Given the description of an element on the screen output the (x, y) to click on. 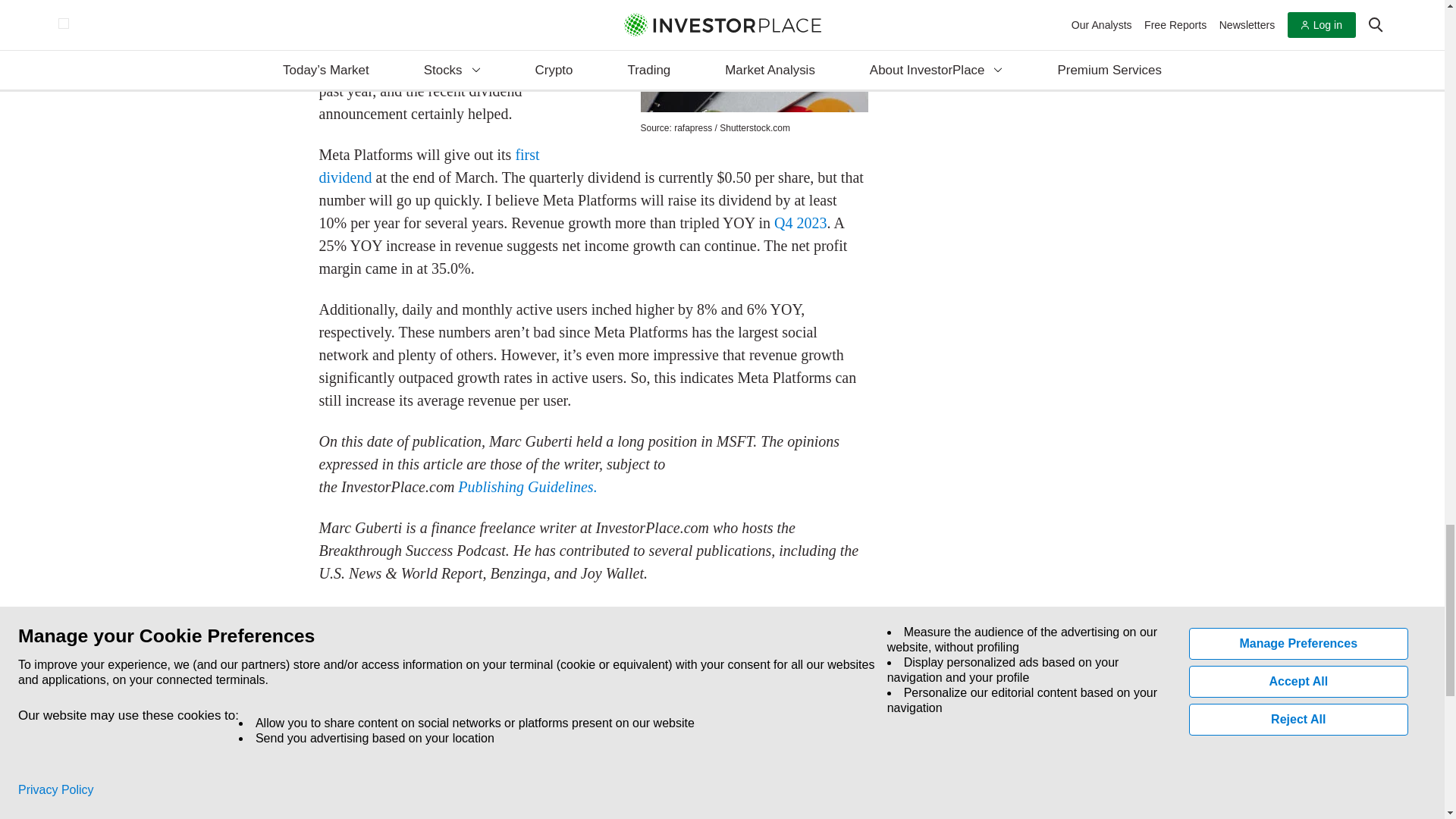
Articles from Cloud industry (476, 614)
Articles from Communications industry (553, 614)
Articles from Technology industry (415, 636)
Articles from Dividend Stocks stock type (368, 677)
Articles from Artificial Intelligence industry (383, 614)
Articles from Financial industry (640, 614)
Articles from Software industry (345, 636)
Articles from Media industry (749, 614)
Articles from Social Media industry (816, 614)
Articles from Fintech industry (699, 614)
